Given the description of an element on the screen output the (x, y) to click on. 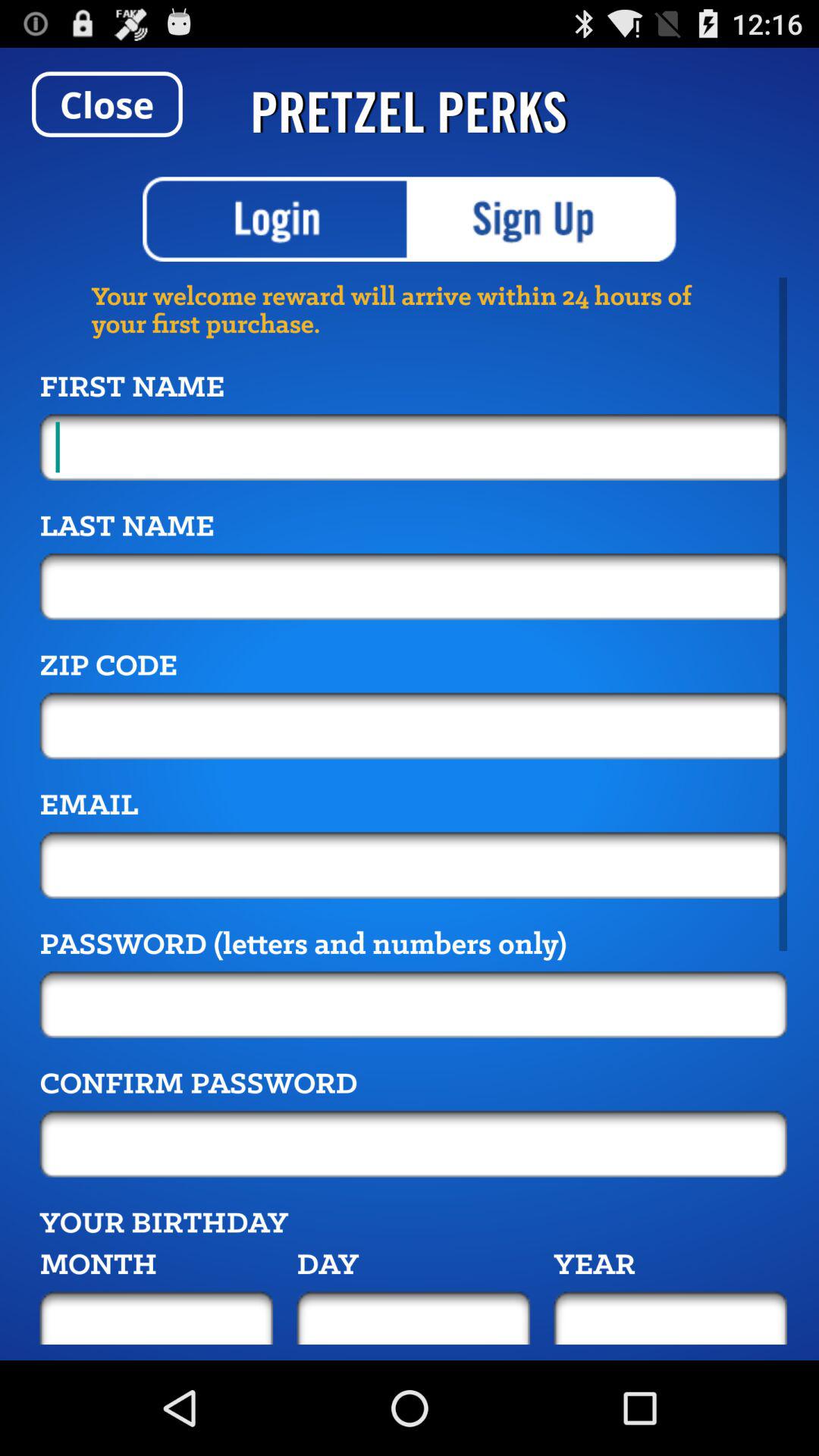
enter day of your birthday (413, 1317)
